Given the description of an element on the screen output the (x, y) to click on. 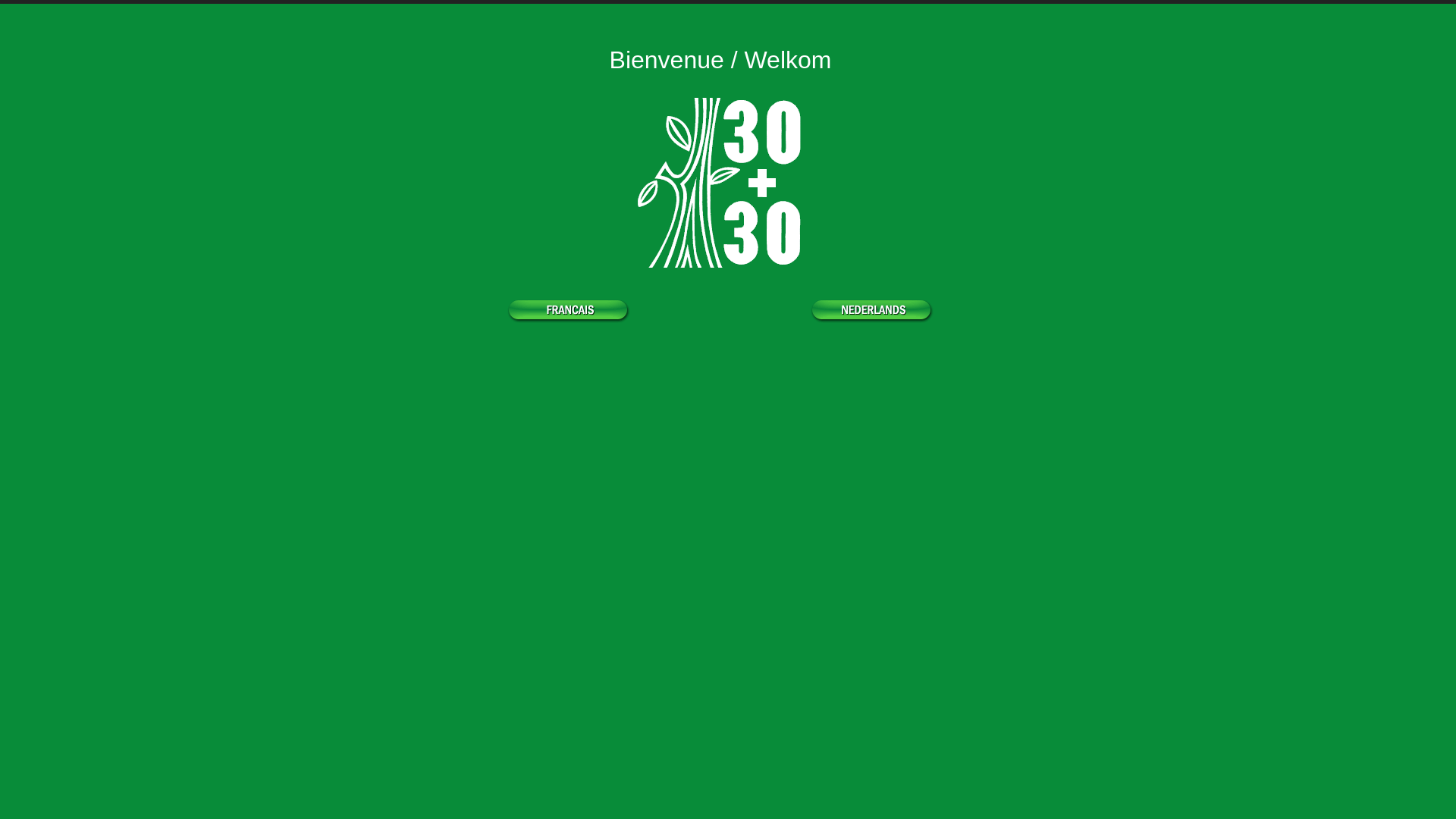
FR Element type: hover (568, 311)
NL Element type: hover (871, 311)
